Given the description of an element on the screen output the (x, y) to click on. 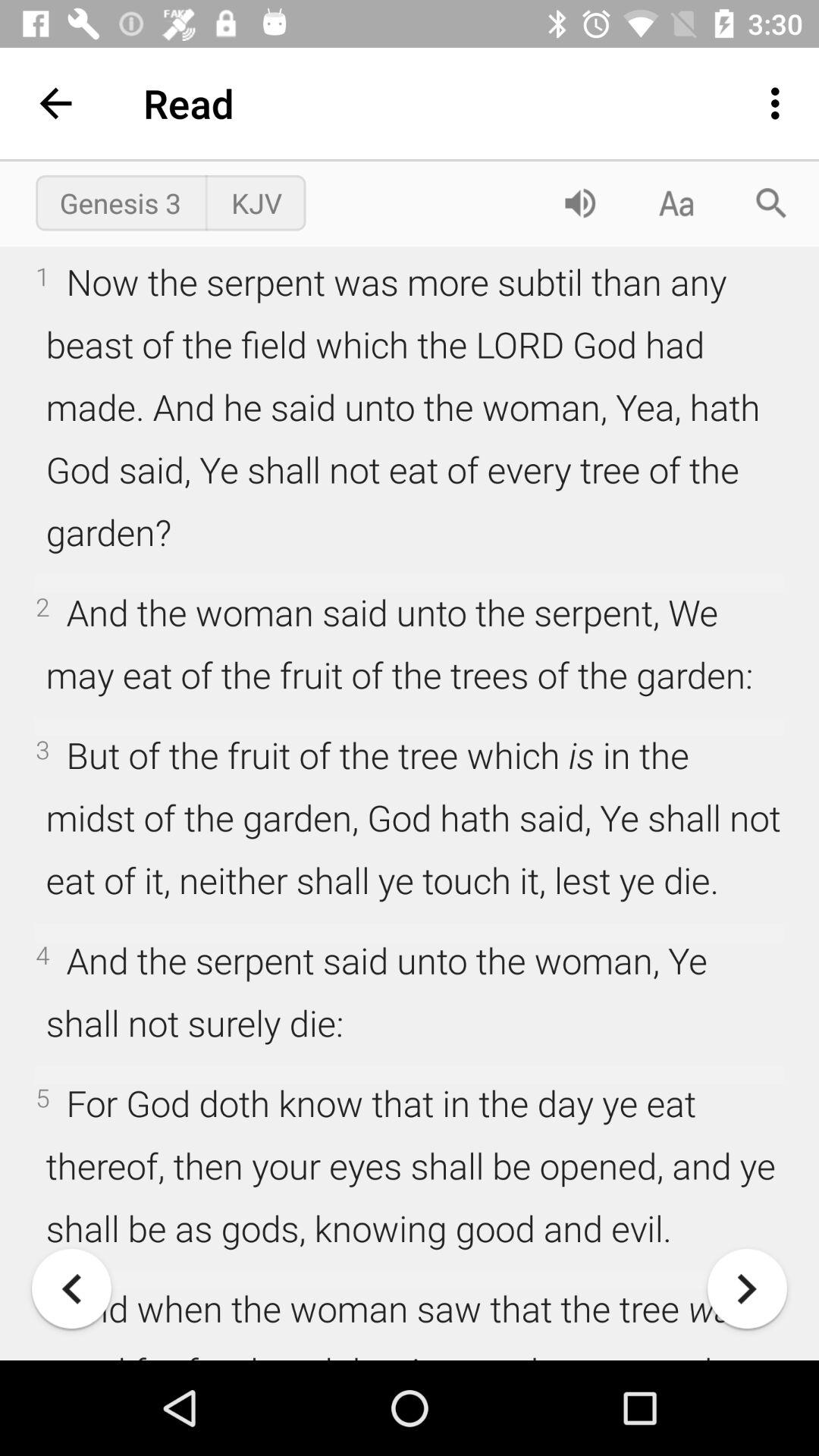
listen to text (579, 202)
